Given the description of an element on the screen output the (x, y) to click on. 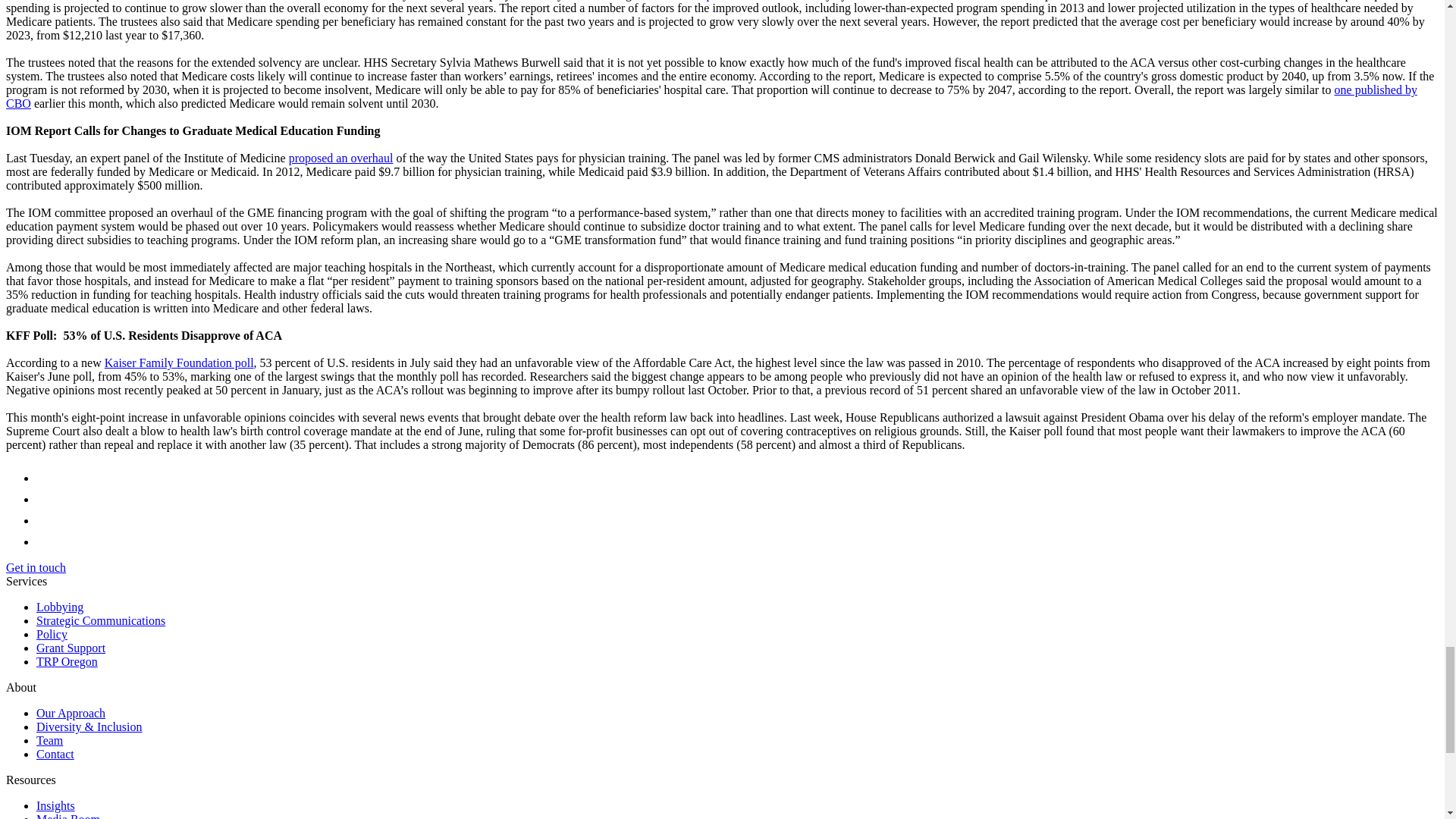
proposed an overhaul (340, 157)
one published by CBO (710, 96)
Get in touch (35, 567)
Kaiser Family Foundation poll (178, 362)
annual report (691, 0)
